Given the description of an element on the screen output the (x, y) to click on. 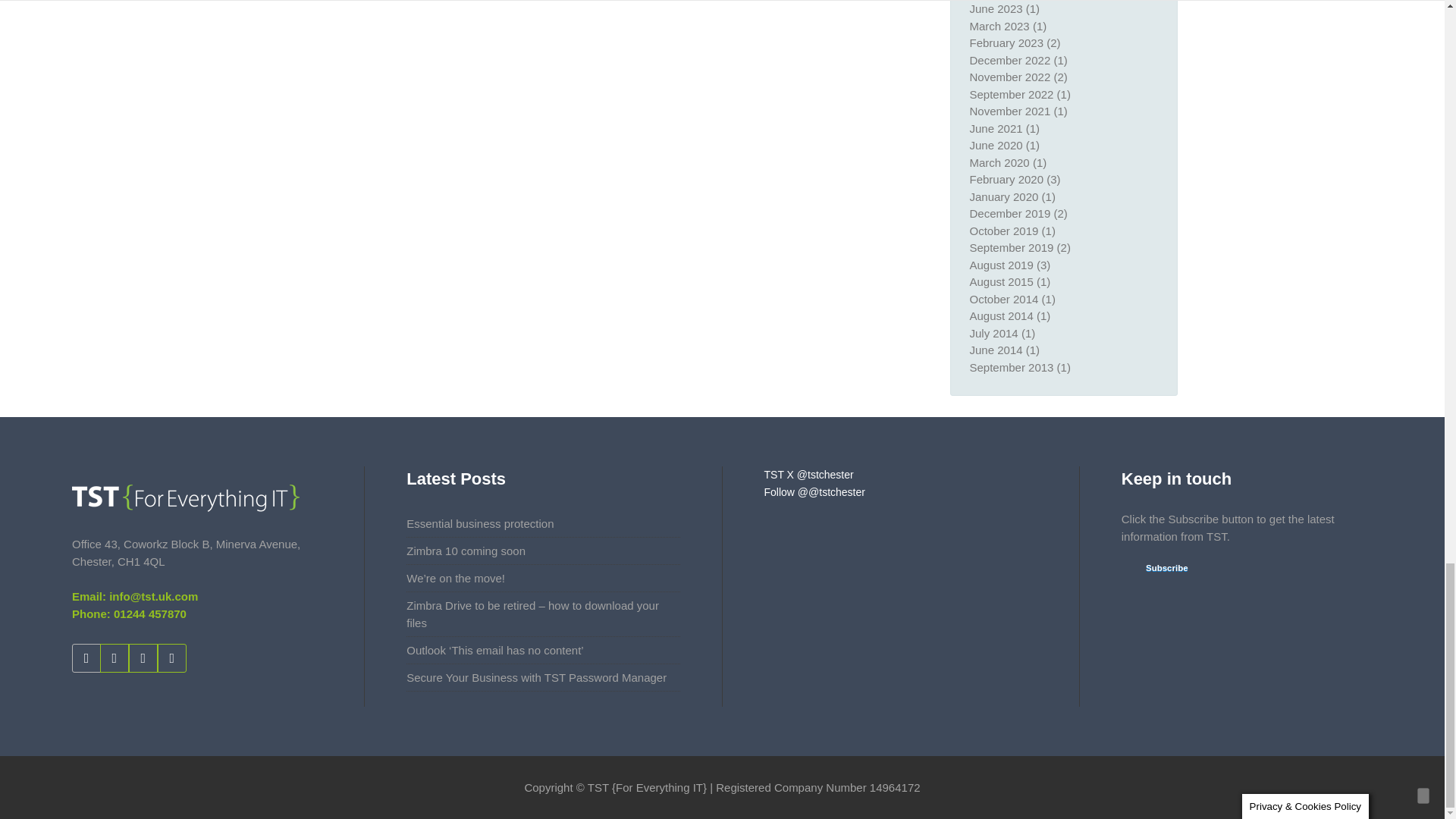
Preview (1157, 568)
